Given the description of an element on the screen output the (x, y) to click on. 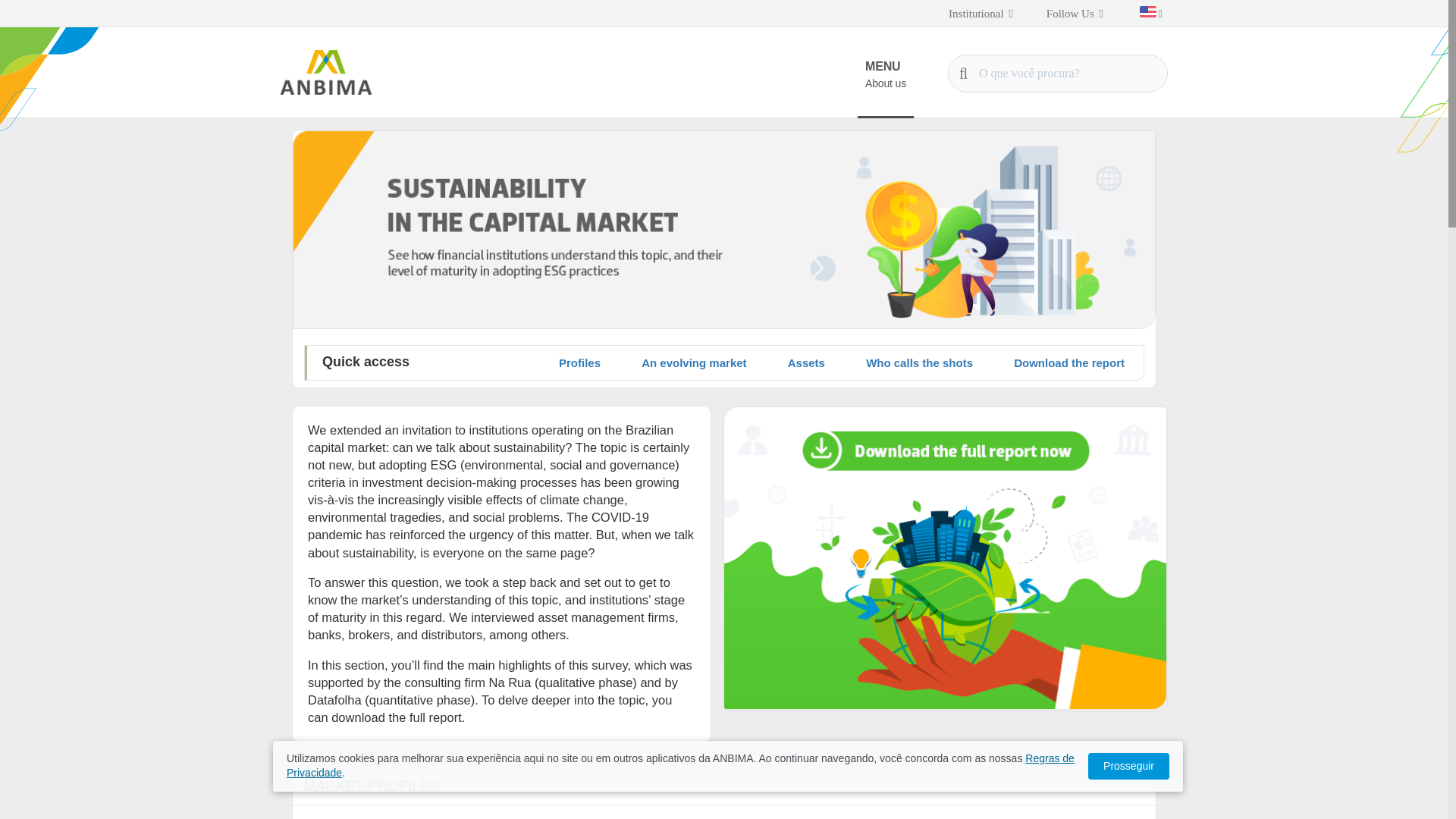
Follow Us (1074, 13)
ANBIMA (326, 72)
Regras de Privacidade (680, 765)
Prosseguir (1128, 766)
Institutional (980, 13)
